Given the description of an element on the screen output the (x, y) to click on. 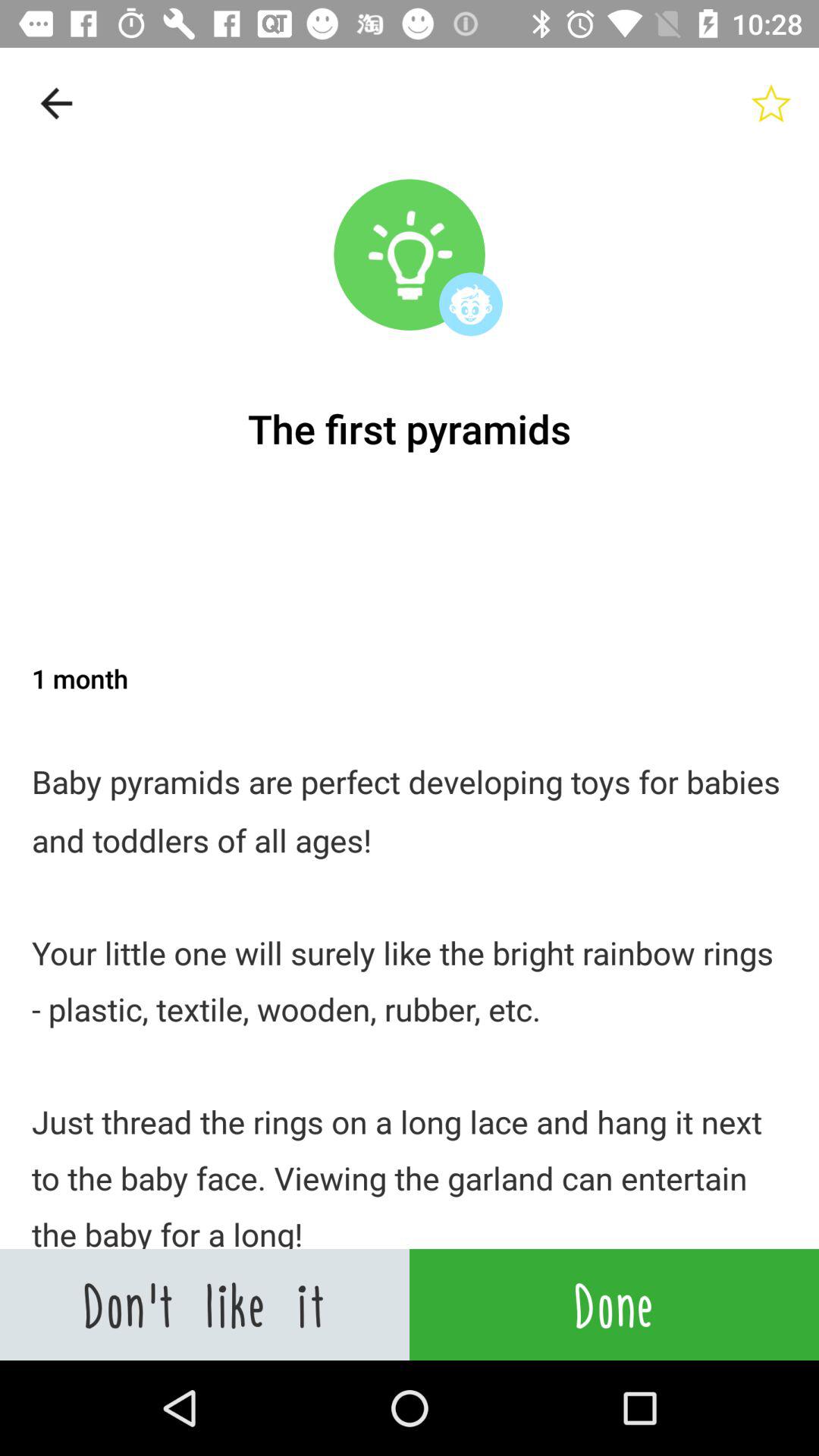
turn off item at the bottom left corner (204, 1304)
